Given the description of an element on the screen output the (x, y) to click on. 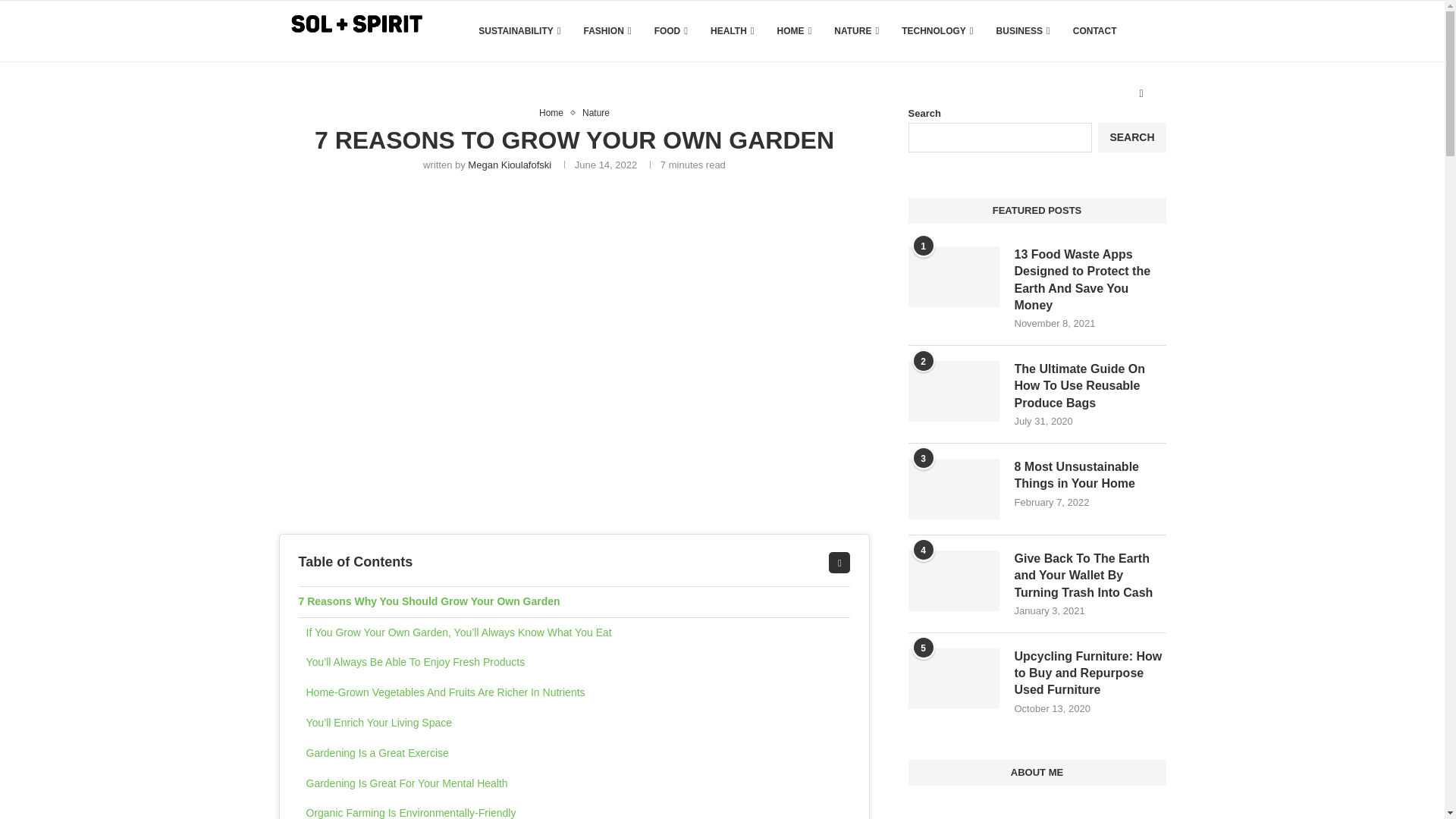
SUSTAINABILITY (519, 30)
